Given the description of an element on the screen output the (x, y) to click on. 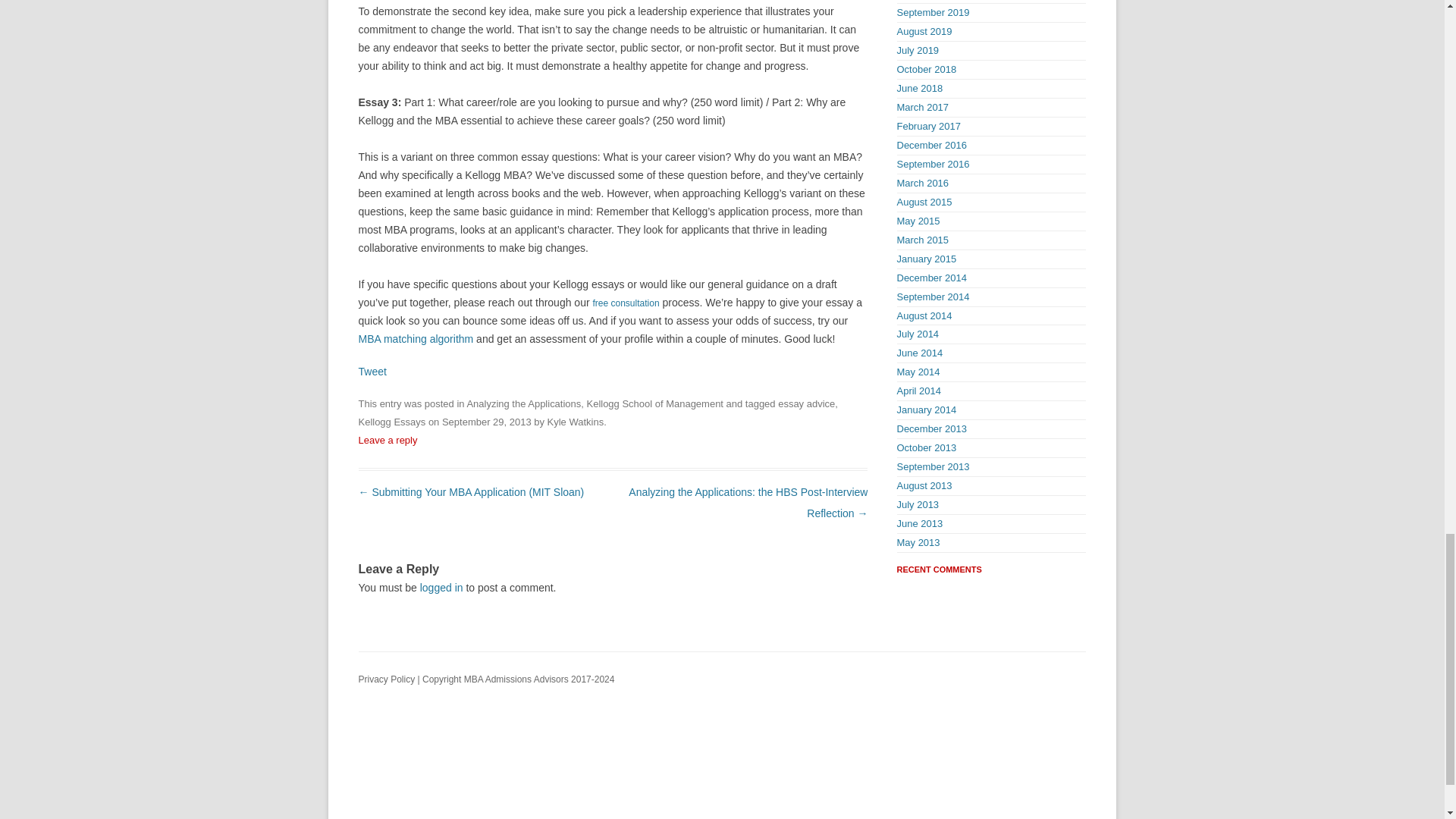
Kellogg School of Management (654, 403)
10:52 pm (486, 421)
Tweet (371, 371)
Privacy Policy (387, 679)
Leave a reply (387, 439)
September 29, 2013 (486, 421)
Free Consultation (625, 303)
Kellogg Essays (391, 421)
Analyzing the Applications (522, 403)
logged in (441, 587)
